Given the description of an element on the screen output the (x, y) to click on. 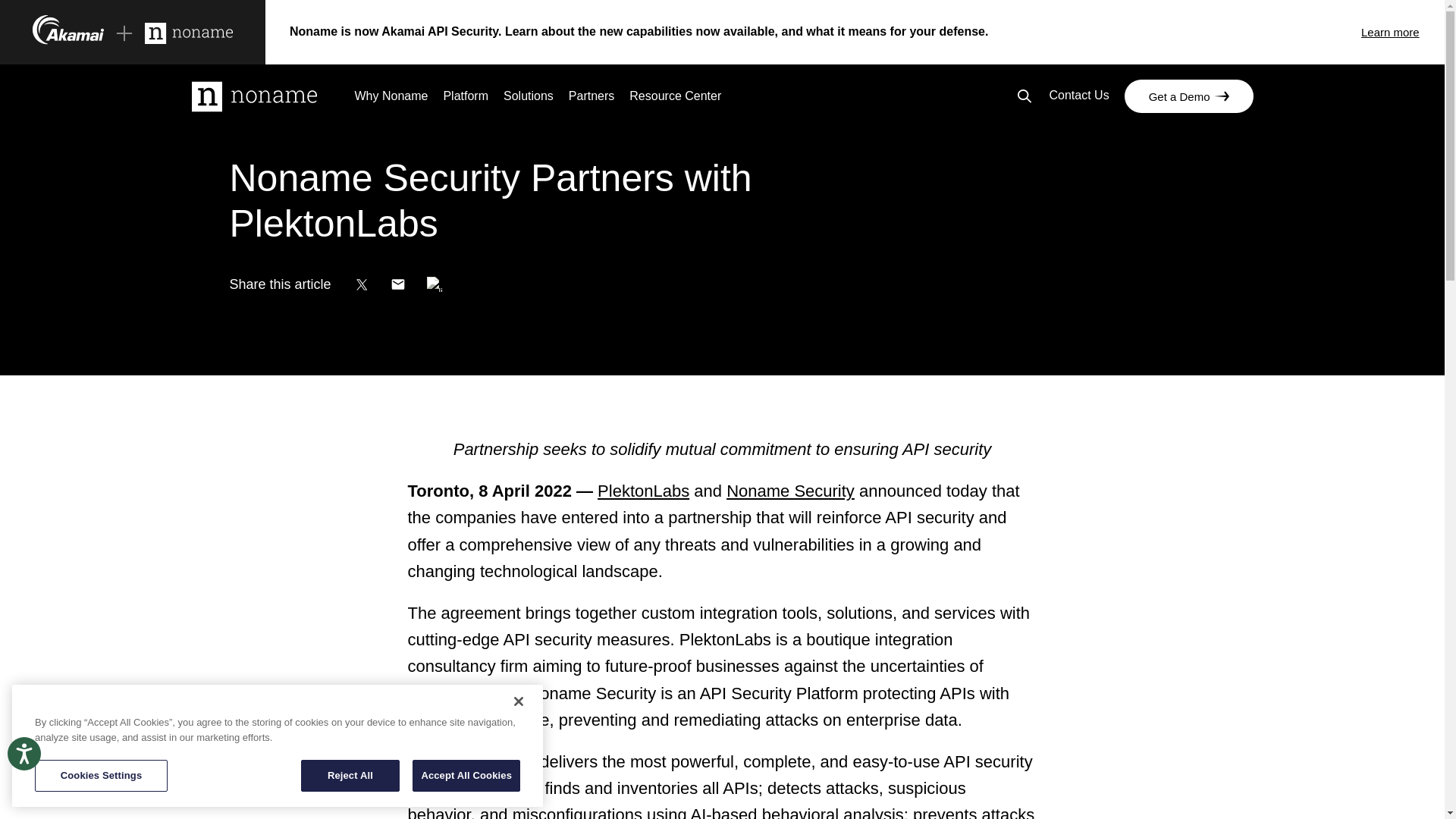
Accessibility (37, 767)
Contact Us (1078, 97)
Resource Center (674, 98)
Get a Demo (1188, 96)
Why Noname (391, 98)
Platform (464, 98)
Partners (591, 98)
Solutions (528, 98)
Learn more (1402, 31)
